Given the description of an element on the screen output the (x, y) to click on. 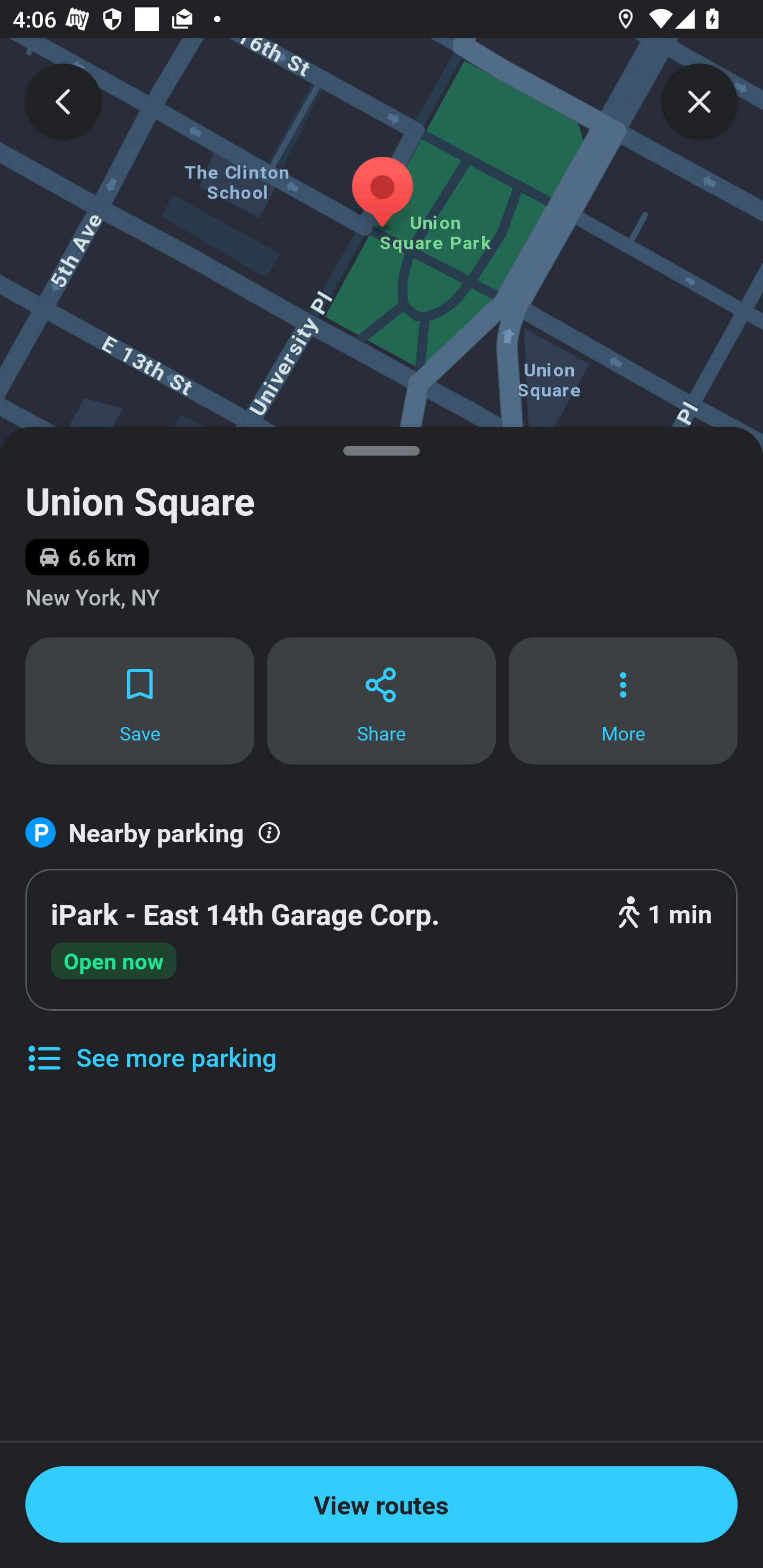
Union Square 6.6 km New York, NY (381, 531)
Save (139, 700)
Share (381, 700)
More (622, 700)
iPark - East 14th Garage Corp. 1 min Open now (381, 939)
See more parking (150, 1043)
View routes (381, 1504)
